Given the description of an element on the screen output the (x, y) to click on. 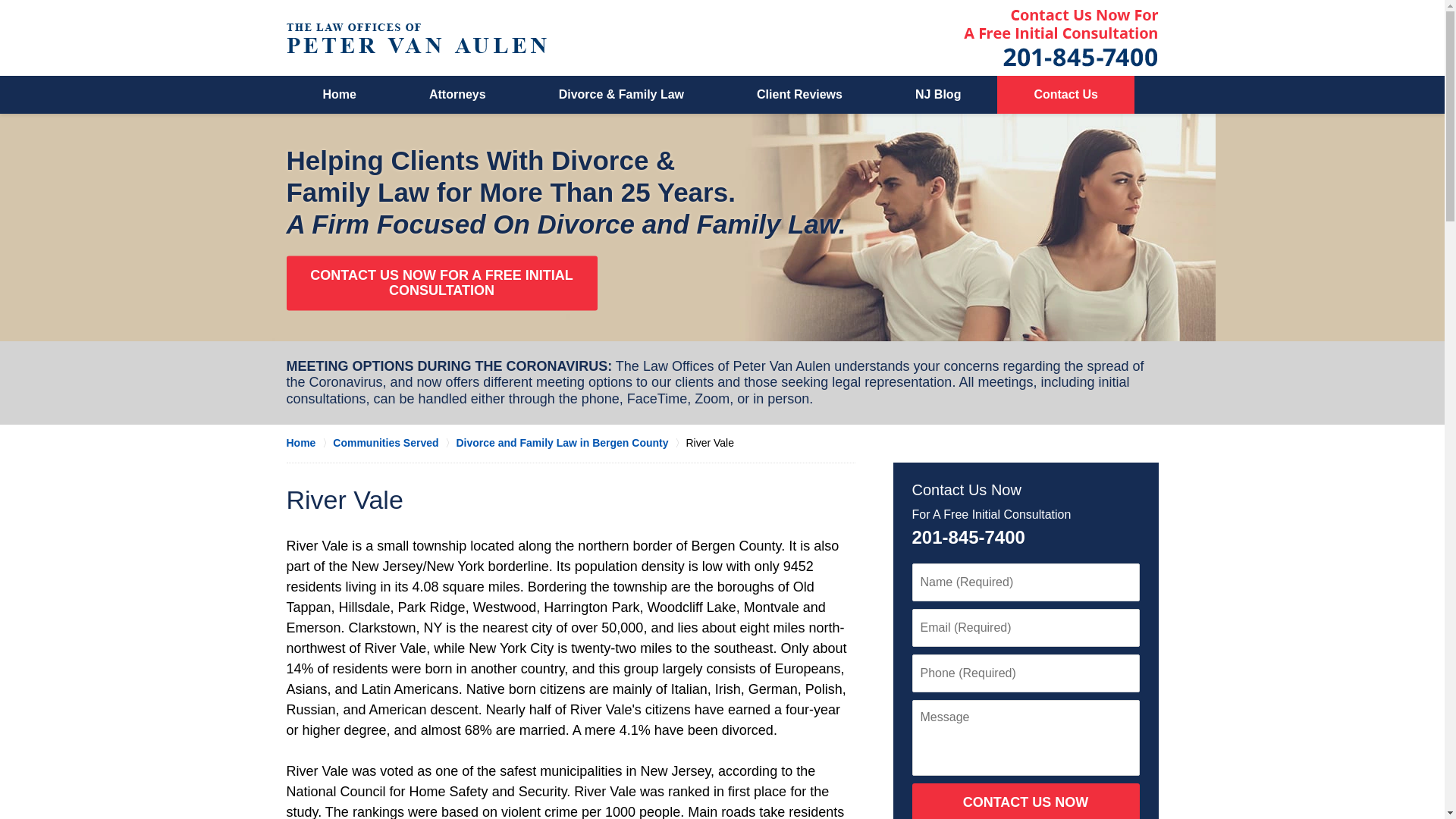
NJ Blog (938, 94)
Back to Home (416, 37)
Contact Us Now (965, 489)
Client Reviews (799, 94)
CONTACT US NOW (1024, 800)
Communities Served (394, 442)
Attorneys (457, 94)
CONTACT US NOW FOR A FREE INITIAL CONSULTATION (441, 283)
Home (309, 442)
Divorce and Family Law in Bergen County (570, 442)
Home (339, 94)
The Law Offices of Peter Van Aulen Home (416, 37)
Contact The Law Offices of Peter Van Aulen (1059, 37)
Contact Us (1065, 94)
